Given the description of an element on the screen output the (x, y) to click on. 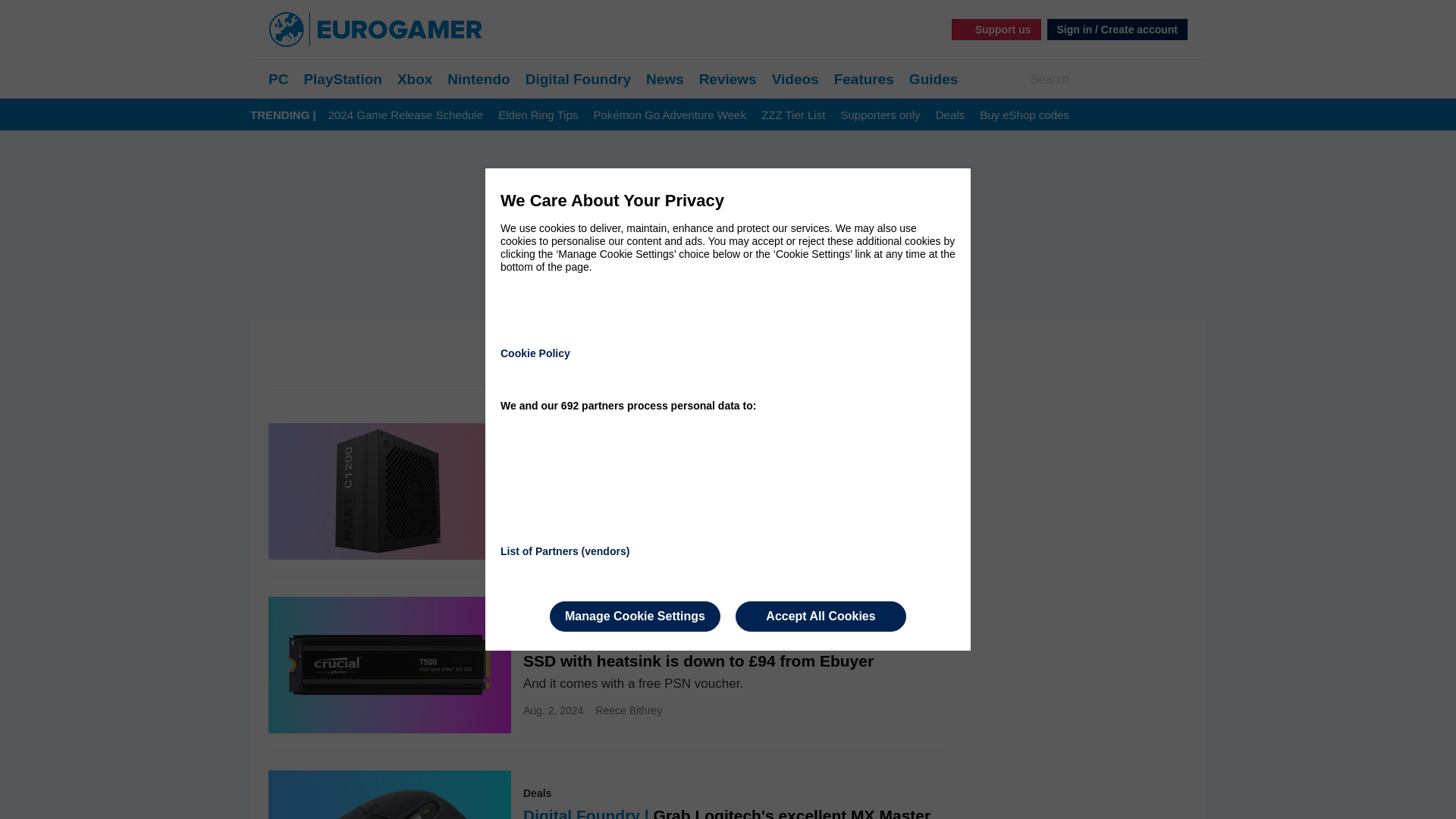
Deals (949, 114)
Reviews (727, 78)
Buy eShop codes (1023, 114)
Guides (933, 78)
Digital Foundry (577, 78)
Videos (794, 78)
Digital Foundry (577, 78)
Deals (949, 114)
News (665, 78)
Guides (933, 78)
Elden Ring Tips (537, 114)
PlayStation (341, 78)
Nintendo (477, 78)
Videos (794, 78)
Features (863, 78)
